Given the description of an element on the screen output the (x, y) to click on. 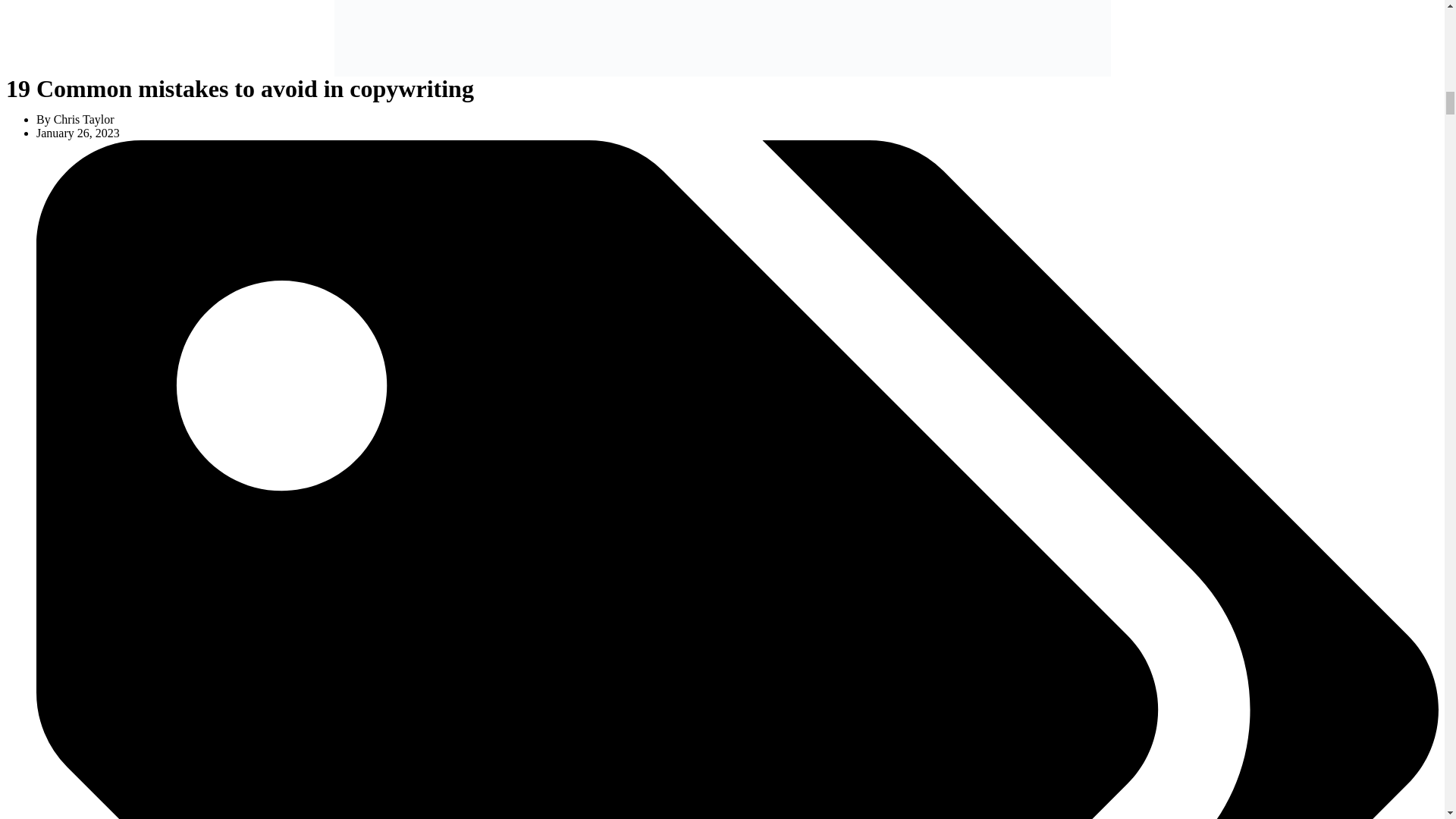
19 Common mistakes to avoid in copywriting (721, 38)
